Given the description of an element on the screen output the (x, y) to click on. 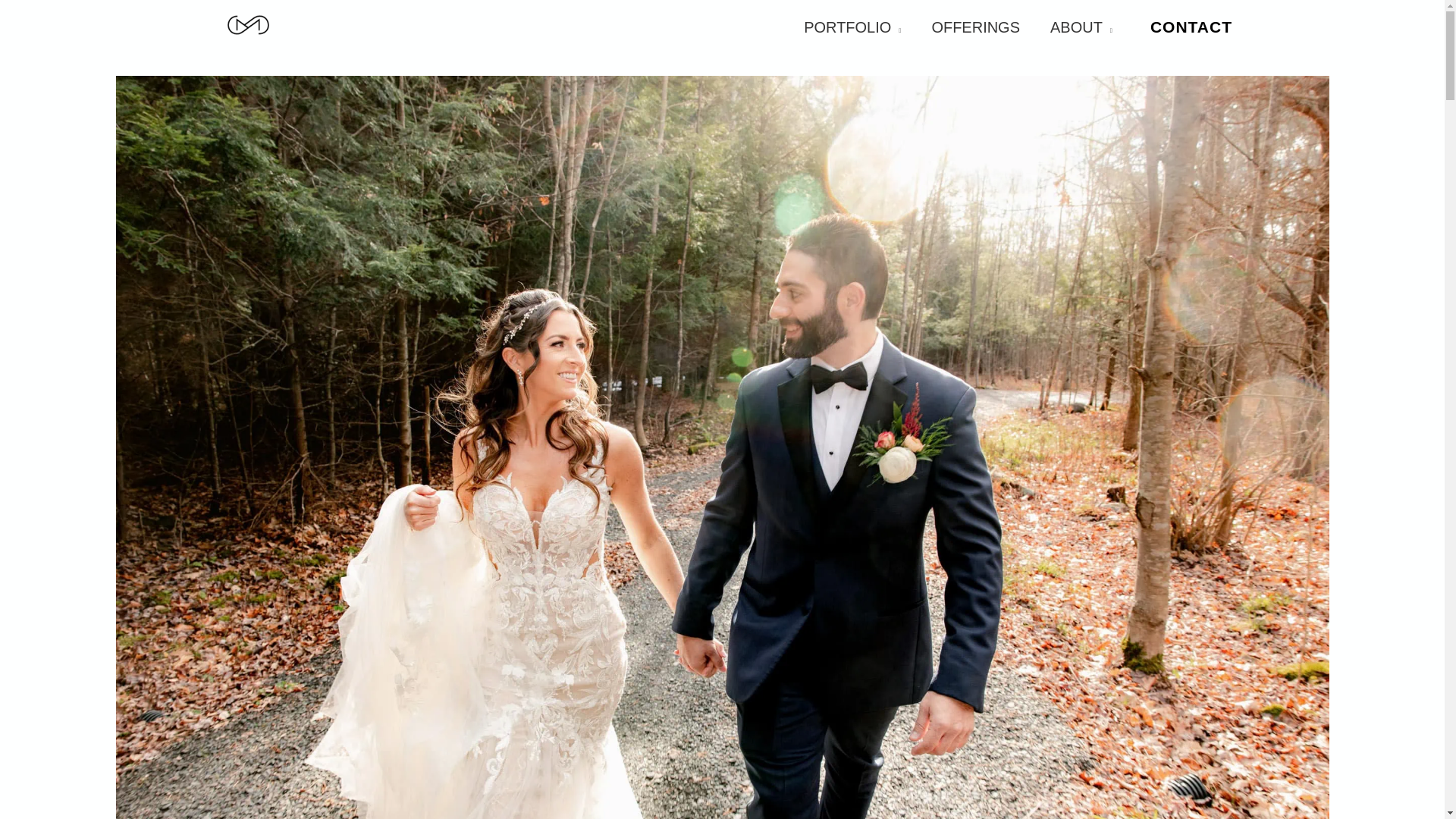
OFFERINGS (975, 24)
PORTFOLIO (852, 24)
CONTACT (1191, 26)
ABOUT (1080, 24)
